Given the description of an element on the screen output the (x, y) to click on. 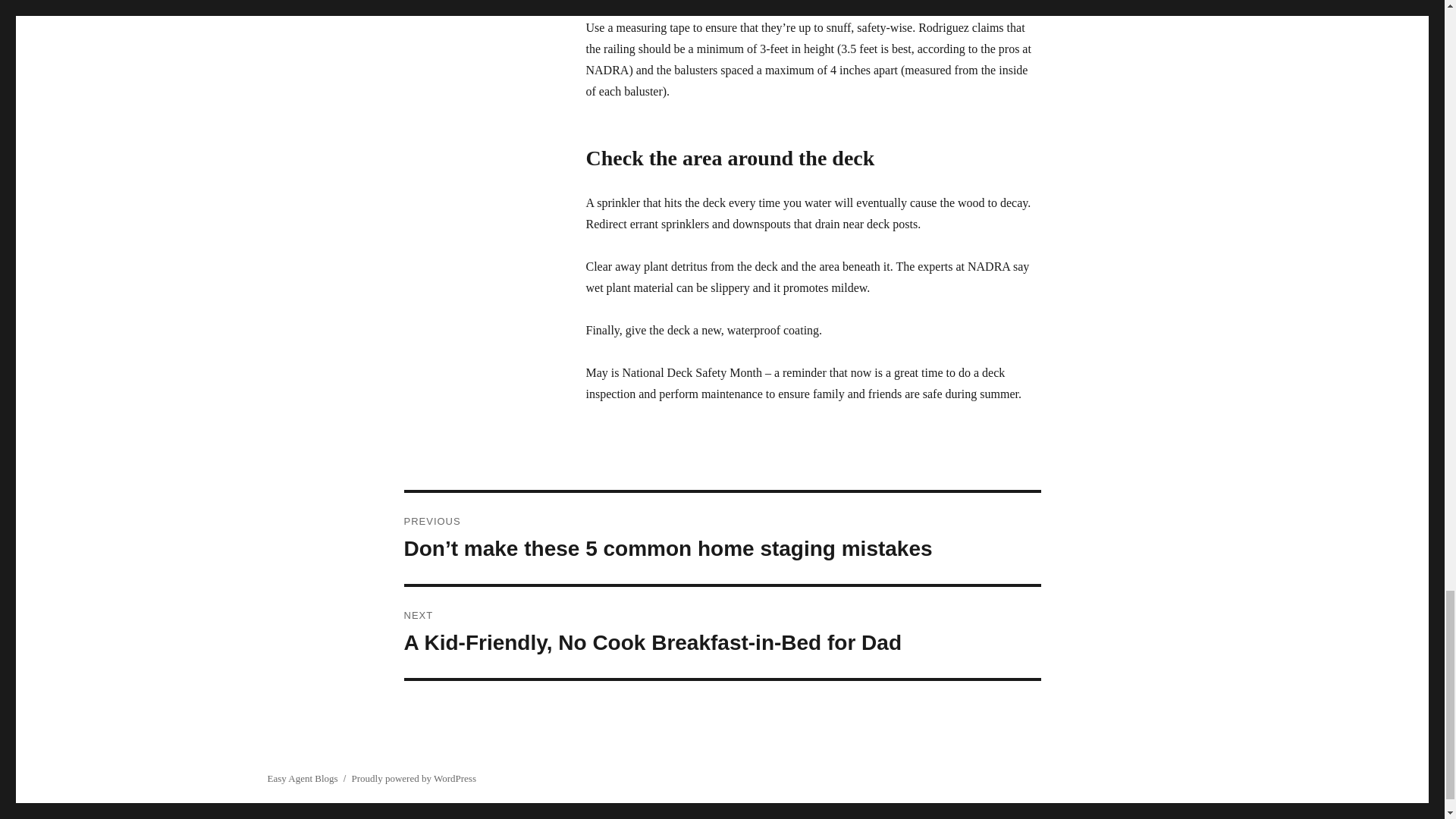
Proudly powered by WordPress (414, 778)
Easy Agent Blogs (301, 778)
